Given the description of an element on the screen output the (x, y) to click on. 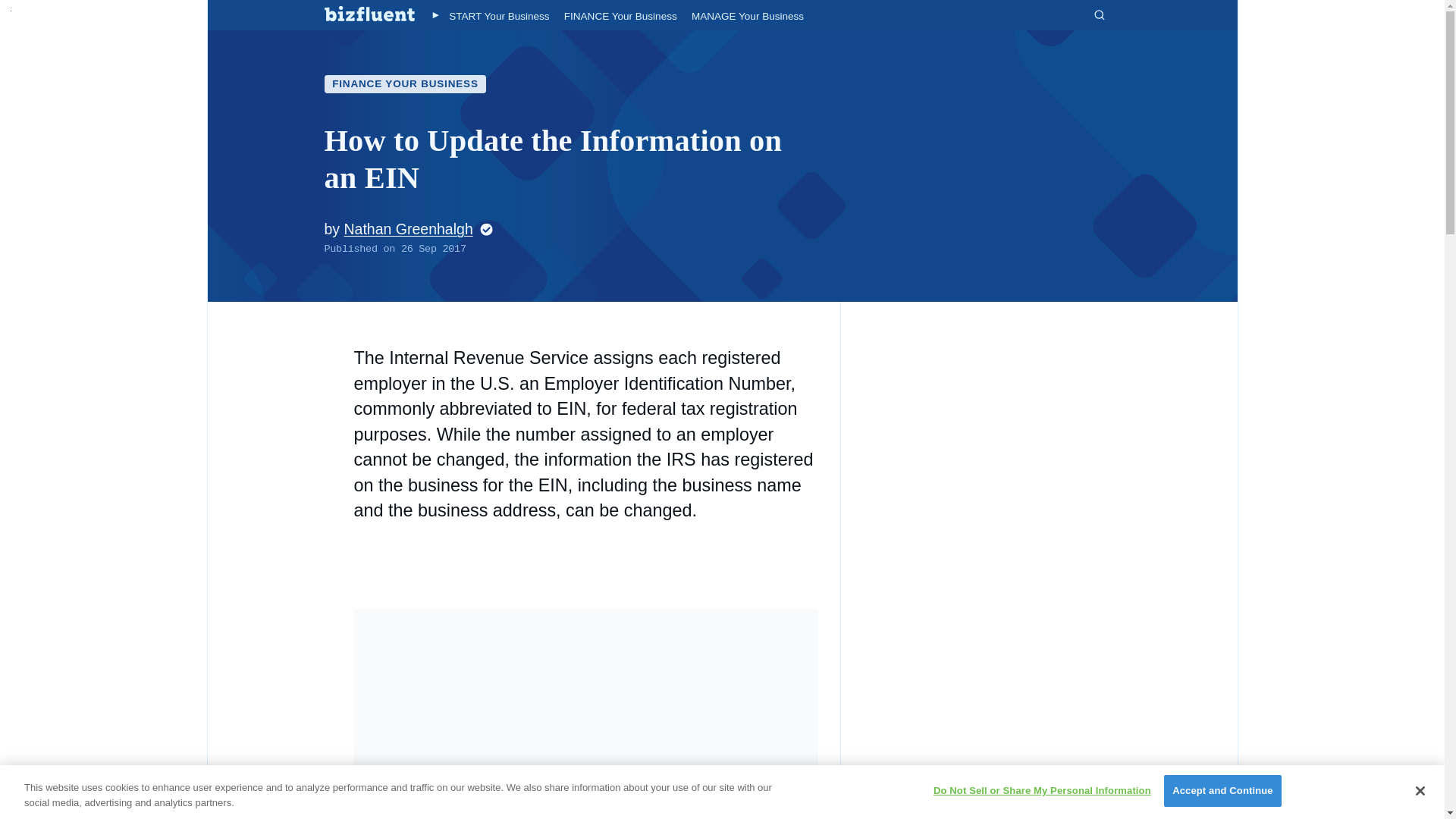
MANAGE Your Business (747, 16)
START Your Business (498, 16)
Advertisement (585, 714)
FINANCE Your Business (620, 16)
